Given the description of an element on the screen output the (x, y) to click on. 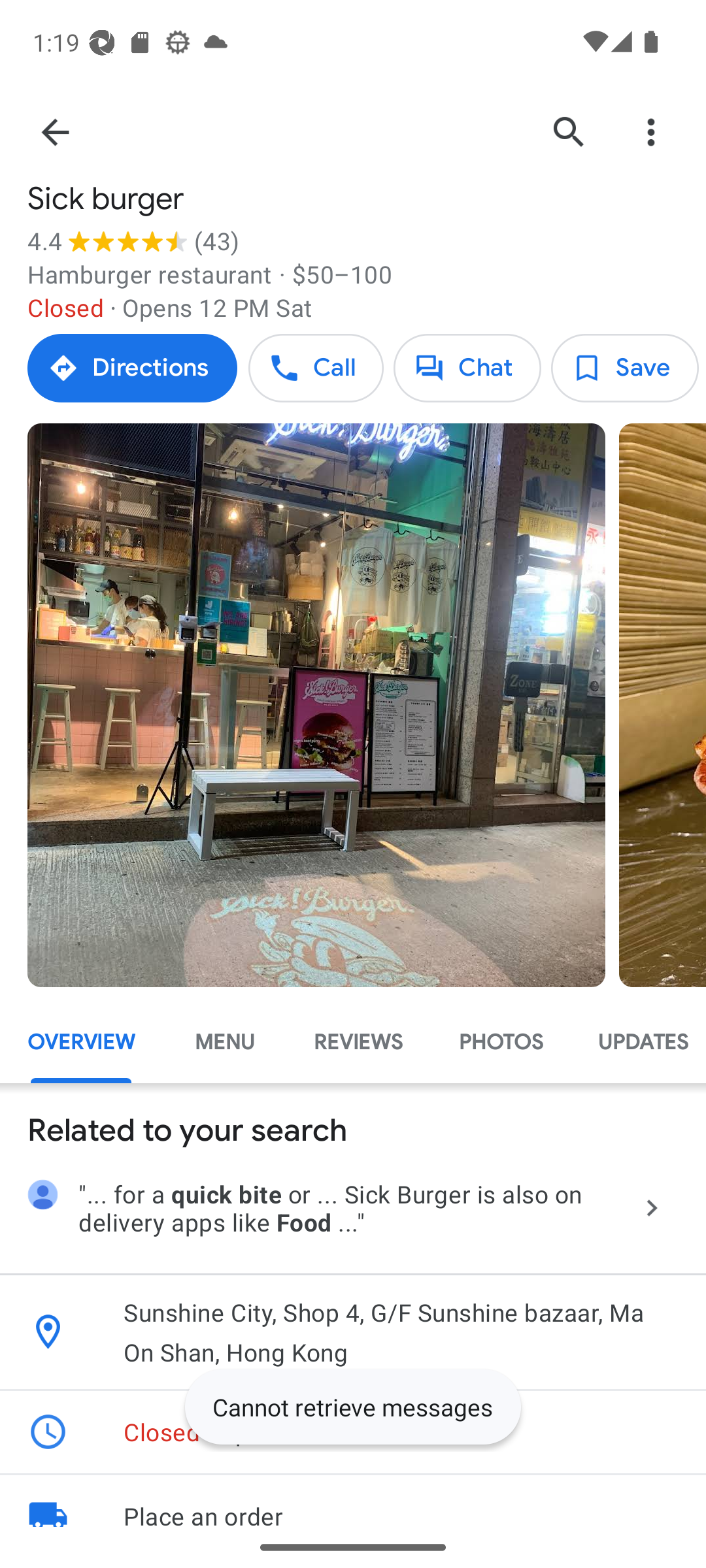
Back to Search (54, 131)
Search (568, 131)
More options for Sick burger (650, 131)
Chat (467, 368)
Re-center map to your location (641, 903)
View Street view imagery for Sick burger (106, 897)
MENU Menu (224, 1041)
REVIEWS Reviews (358, 1041)
PHOTOS Photos (500, 1041)
UPDATES Updates (638, 1041)
Place an order (353, 1501)
